Given the description of an element on the screen output the (x, y) to click on. 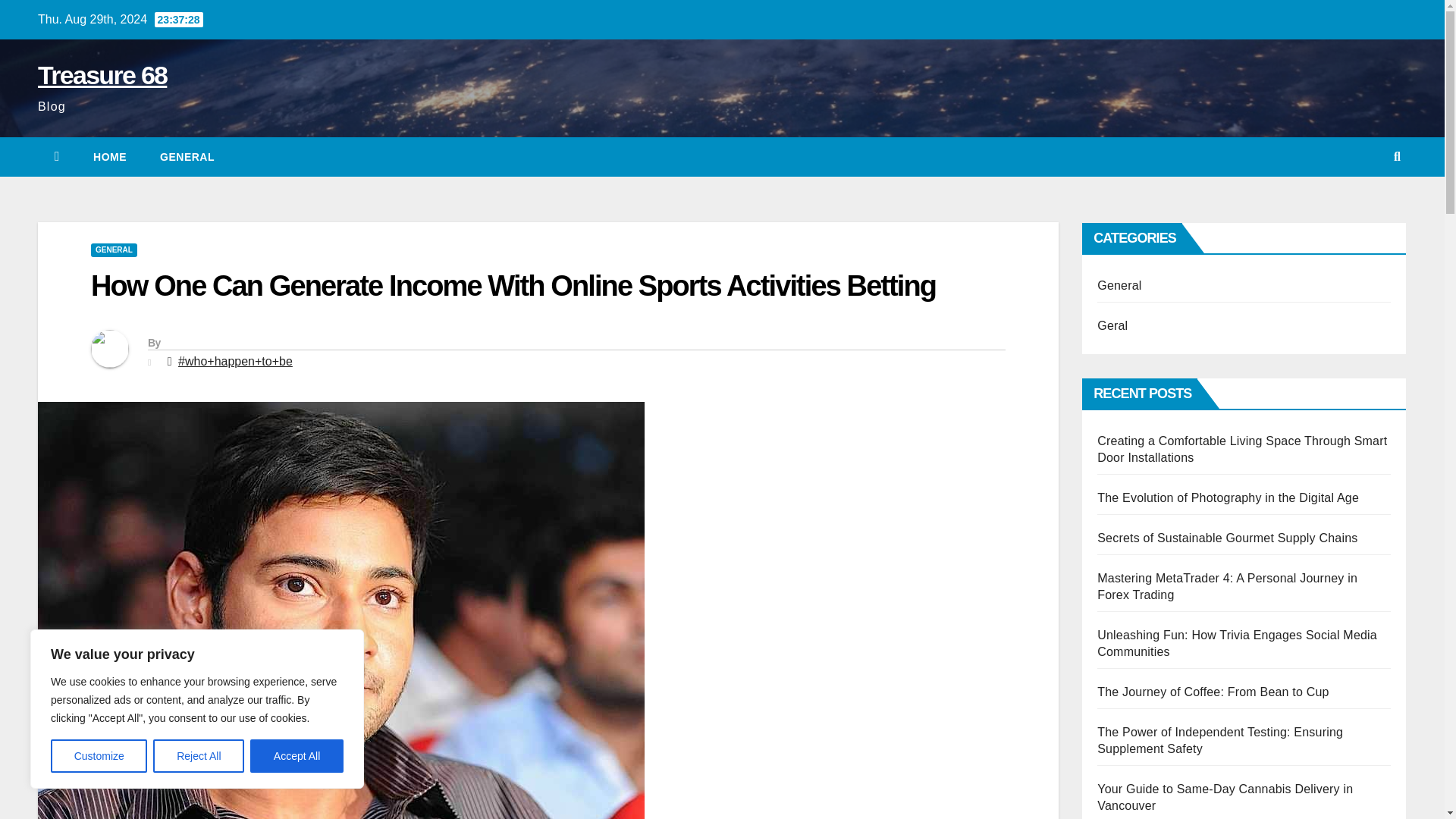
Customize (98, 756)
General (186, 156)
HOME (109, 156)
Reject All (198, 756)
Home (109, 156)
Treasure 68 (102, 74)
GENERAL (186, 156)
Accept All (296, 756)
